Given the description of an element on the screen output the (x, y) to click on. 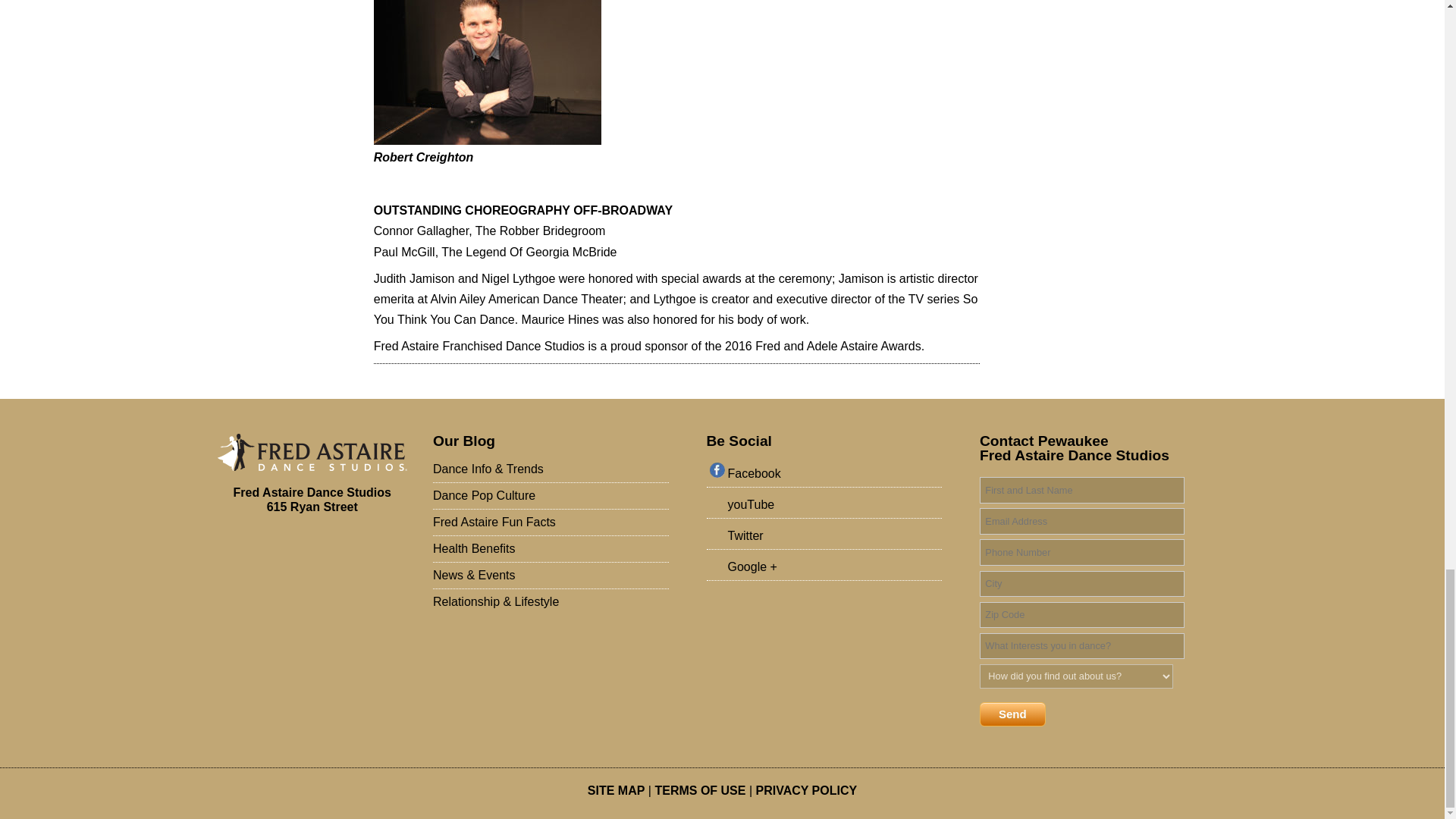
Dance Pop Culture (550, 495)
Twitter (827, 536)
Facebook (827, 474)
SITE MAP (616, 789)
Health Benefits (550, 549)
follow us on Twitter (827, 536)
PRIVACY POLICY (806, 789)
Send (1012, 713)
find us on facebook (827, 474)
youTube (827, 505)
